Given the description of an element on the screen output the (x, y) to click on. 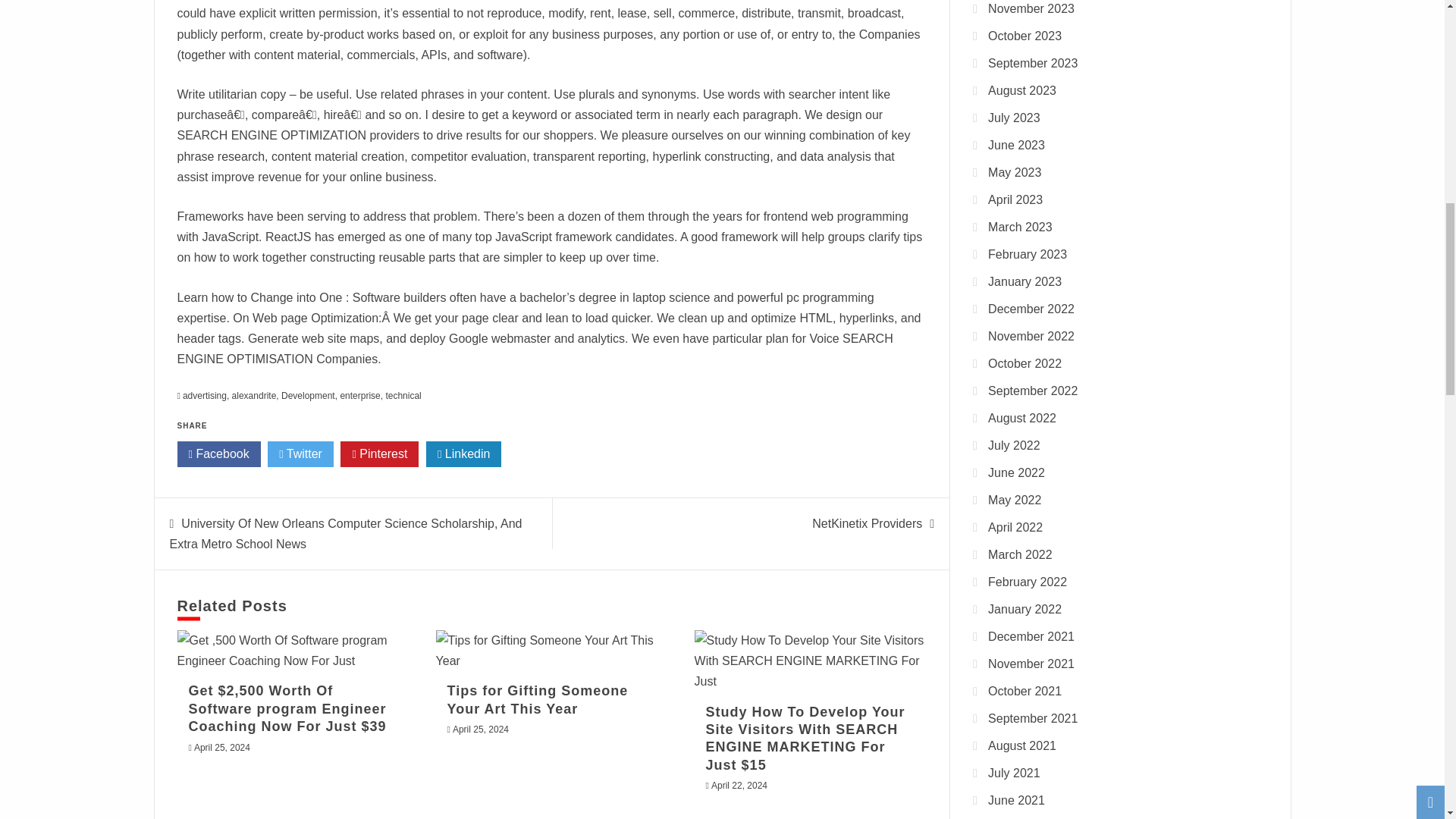
advertising (205, 395)
Tips for Gifting Someone Your Art This Year (537, 699)
alexandrite (253, 395)
April 25, 2024 (221, 747)
Twitter (300, 453)
technical (402, 395)
Development (307, 395)
Pinterest (379, 453)
